Given the description of an element on the screen output the (x, y) to click on. 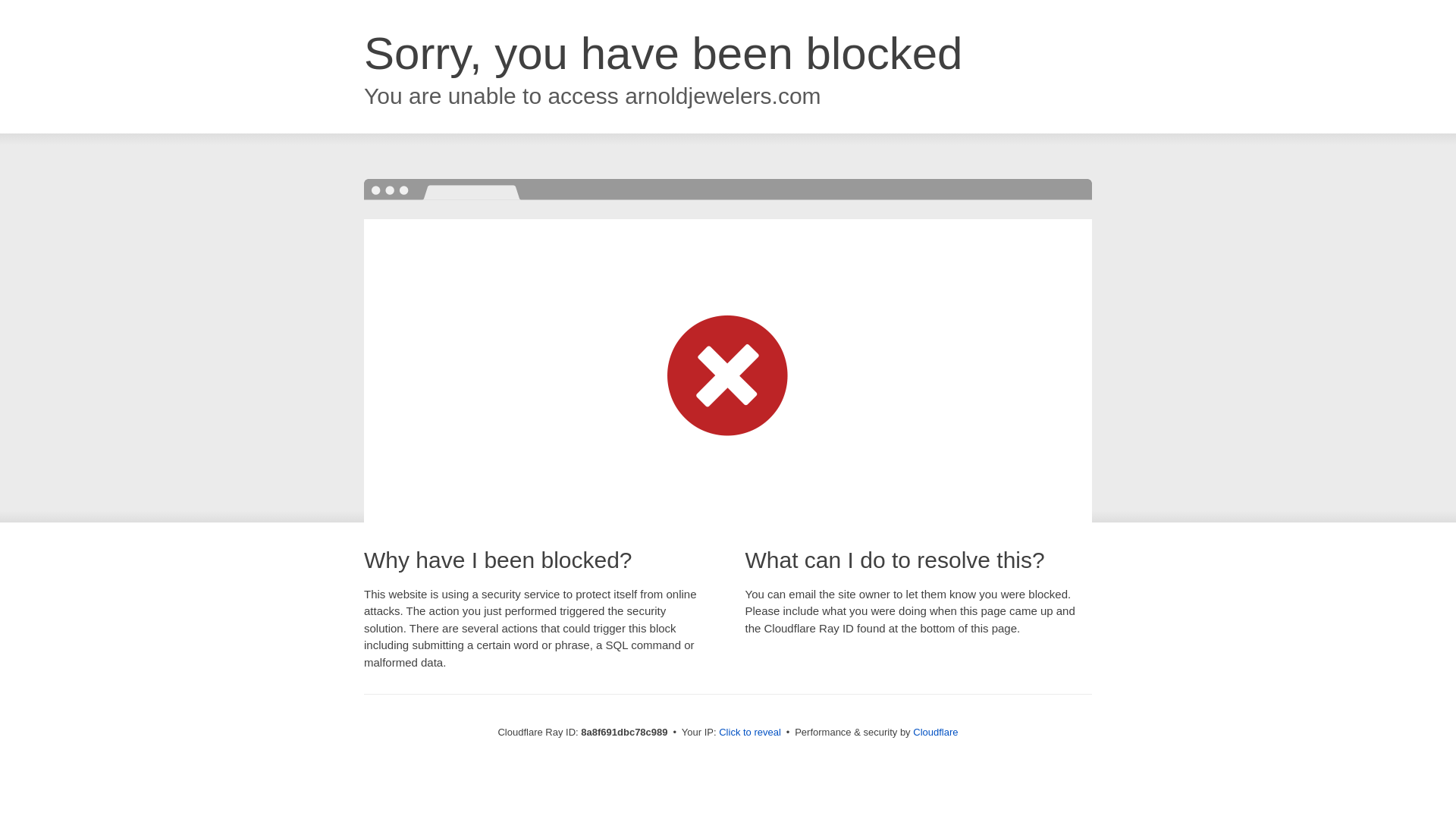
Click to reveal (749, 732)
Cloudflare (935, 731)
